Given the description of an element on the screen output the (x, y) to click on. 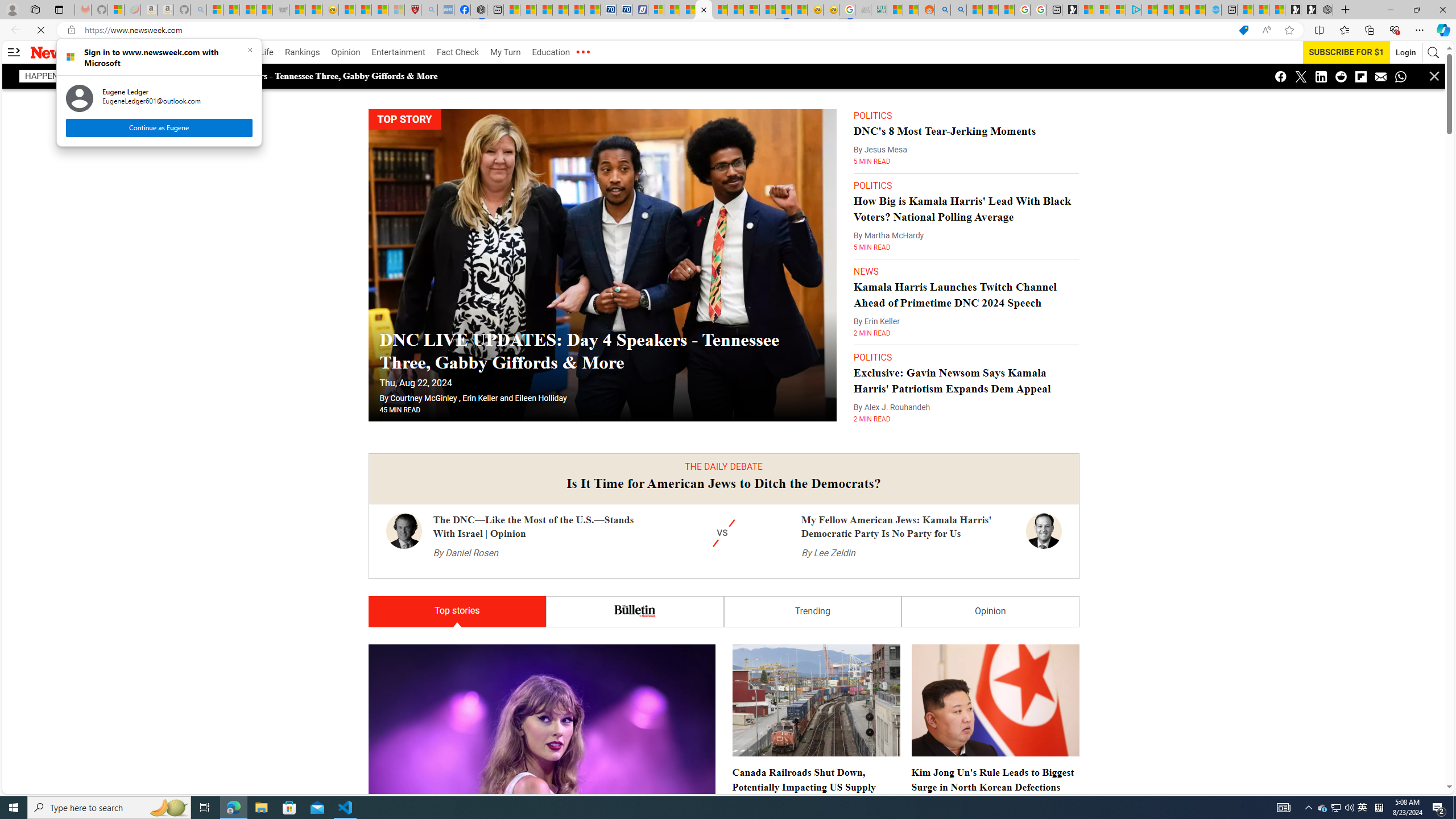
Home | Sky Blue Bikes - Sky Blue Bikes (1213, 9)
Login (1399, 51)
Trusted Community Engagement and Contributions | Guidelines (735, 9)
Class: icon icon-email (1380, 75)
By Daniel Rosen (464, 529)
Rankings (302, 52)
Why Taylor Swift is in a Pentagon Intelligence Report (525, 641)
Task View (204, 807)
